Given the description of an element on the screen output the (x, y) to click on. 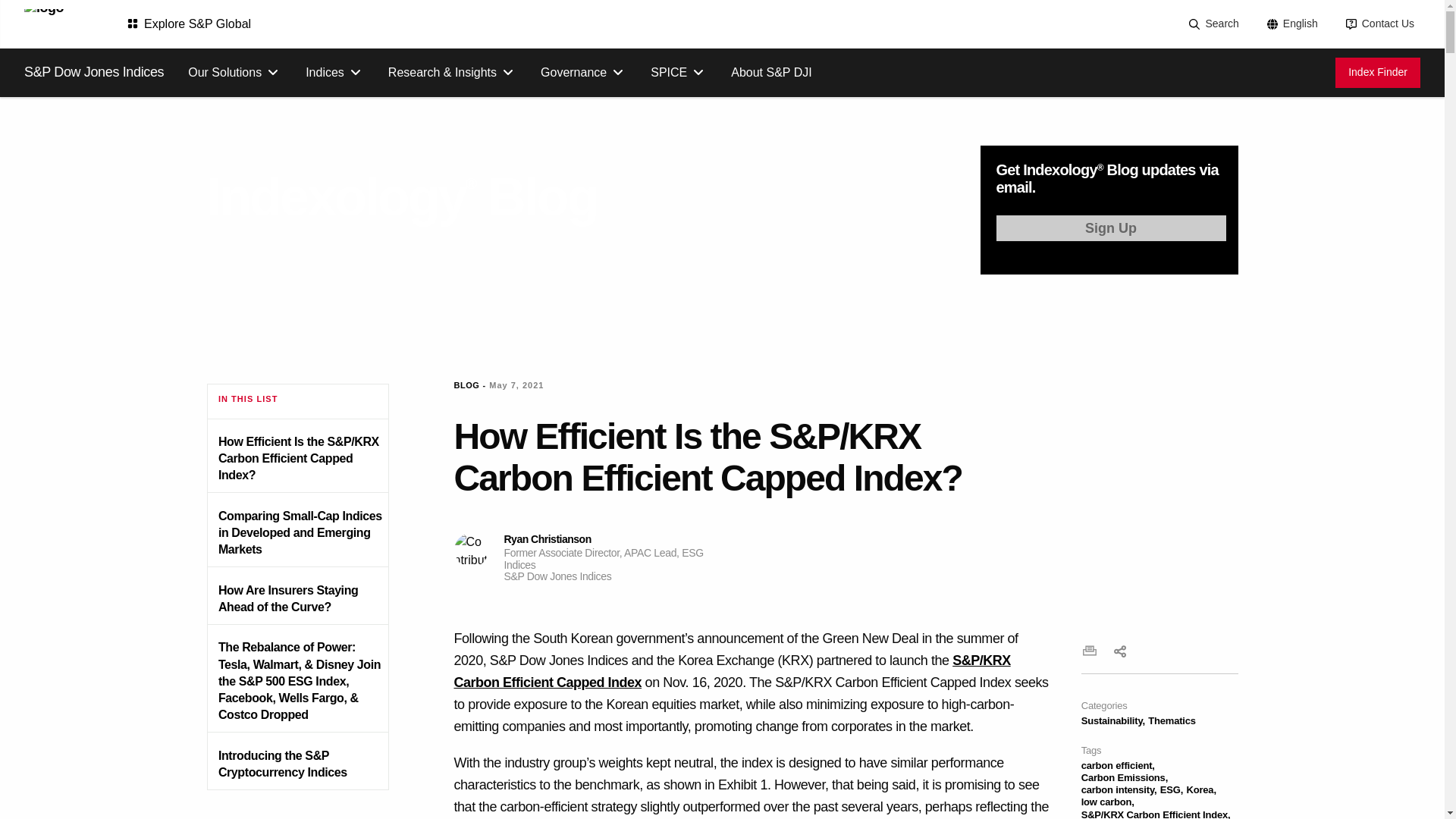
Ryan Christianson (469, 550)
View all posts in Sustainability (1112, 720)
Contact Us (1378, 24)
English (1290, 24)
Search (1211, 24)
View all posts in Thematics (1171, 720)
